Given the description of an element on the screen output the (x, y) to click on. 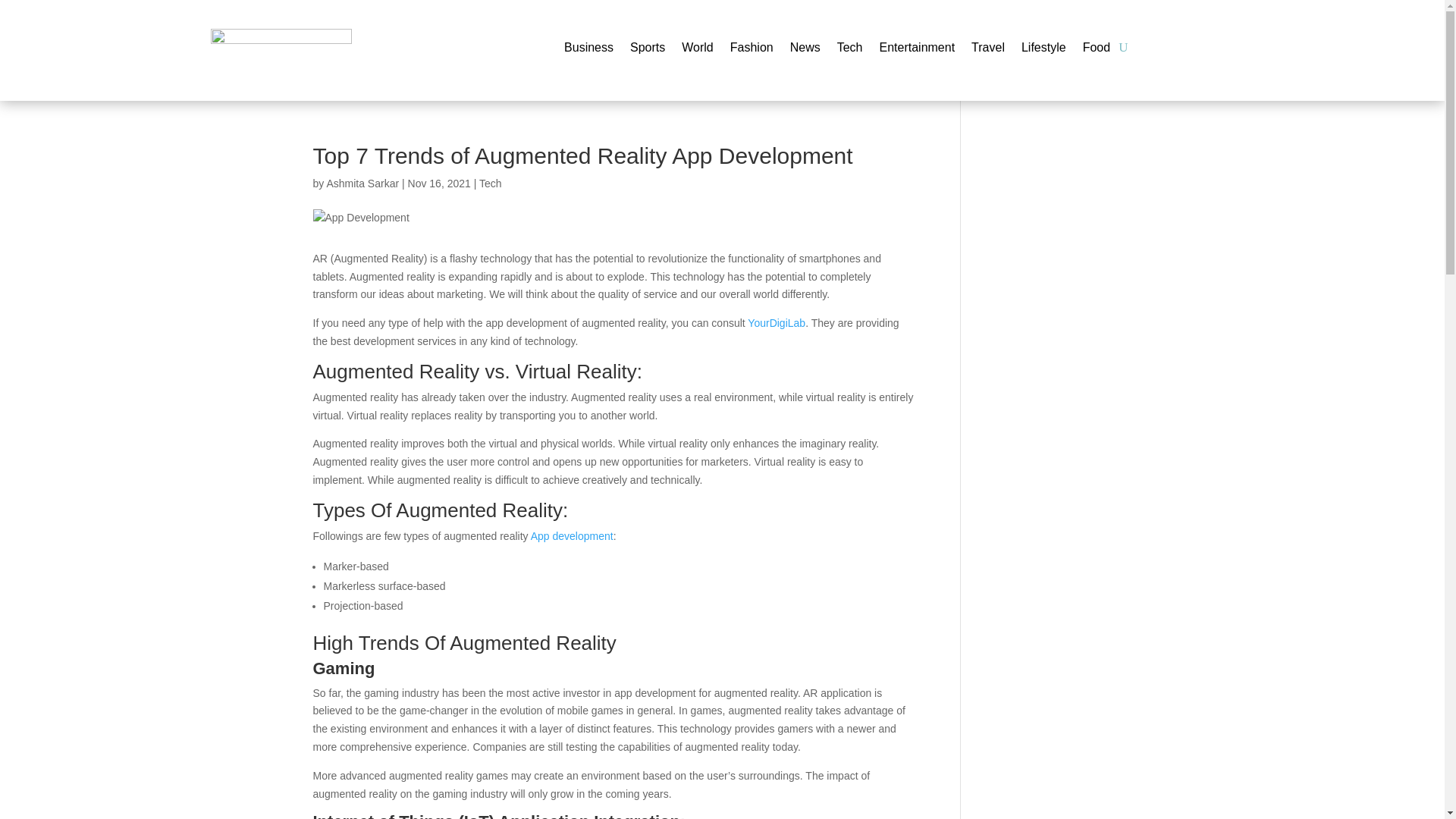
Sports (647, 50)
Travel (987, 50)
News (805, 50)
Fashion (751, 50)
Entertainment (917, 50)
Tech (490, 183)
World (697, 50)
cropped-Blogger-feet.png (281, 50)
Posts by Ashmita Sarkar (362, 183)
YourDigiLab (776, 322)
